Given the description of an element on the screen output the (x, y) to click on. 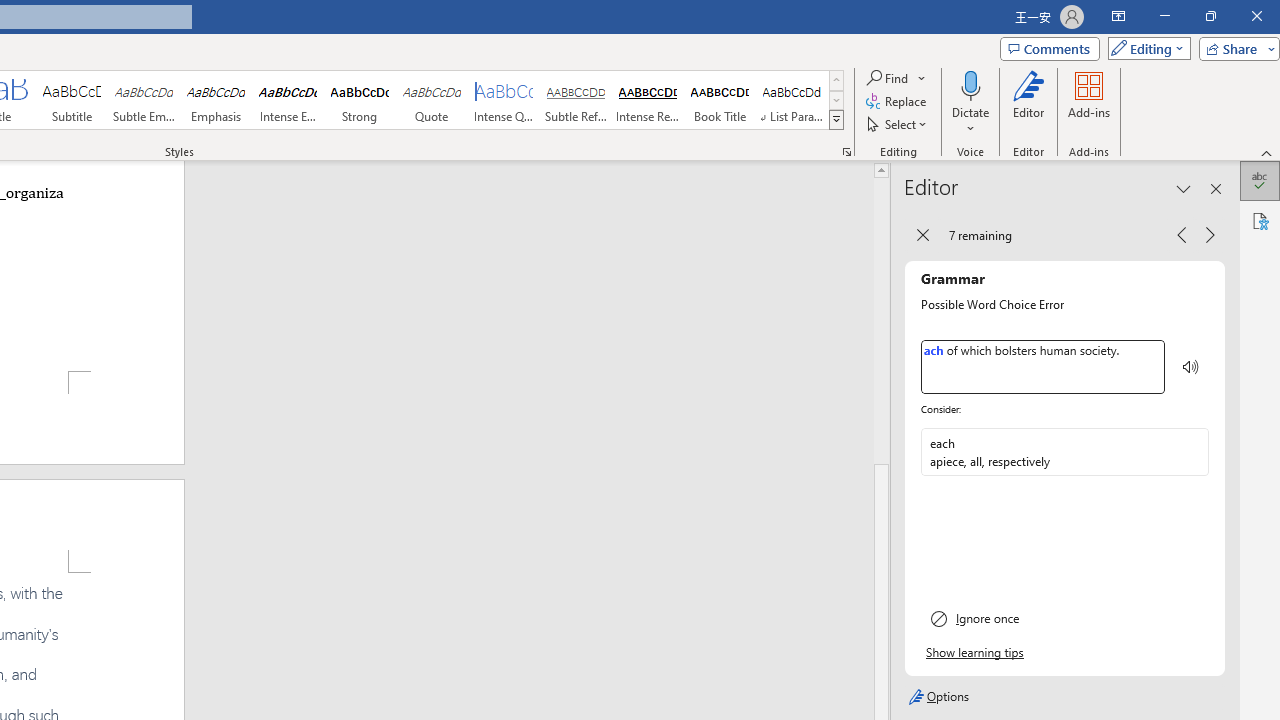
Styles... (846, 151)
Show learning tips (975, 653)
Previous Issue, 7 remaining (1181, 234)
Replace... (897, 101)
Ignore once (1065, 618)
Row up (836, 79)
Options (1064, 696)
Collapse the Ribbon (1267, 152)
Styles (836, 120)
Book Title (719, 100)
